Given the description of an element on the screen output the (x, y) to click on. 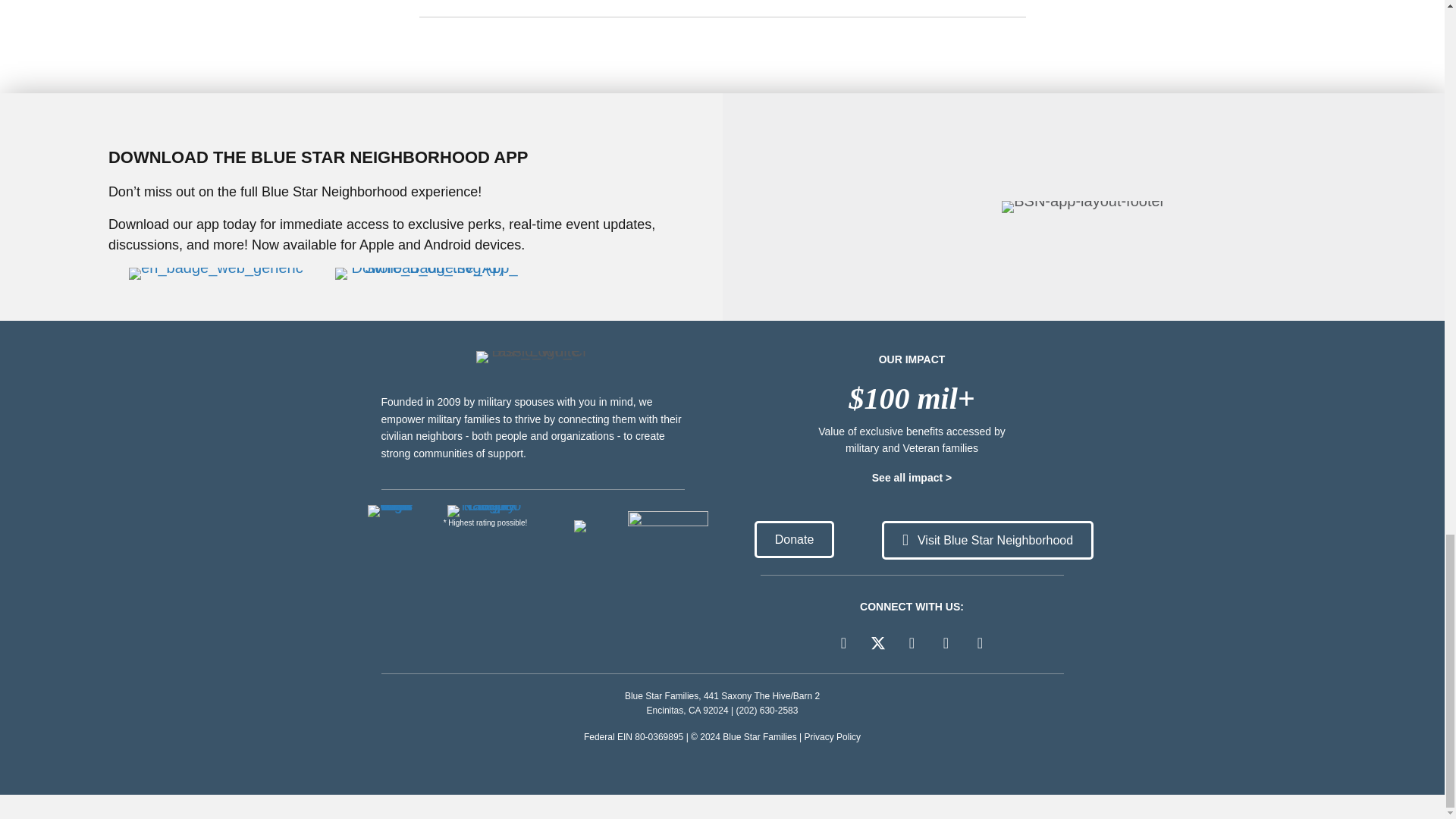
BSN-app-layout-footer (1082, 206)
Instagram (978, 643)
Facebook (843, 643)
LinkedIn (911, 643)
YouTube (945, 643)
